Given the description of an element on the screen output the (x, y) to click on. 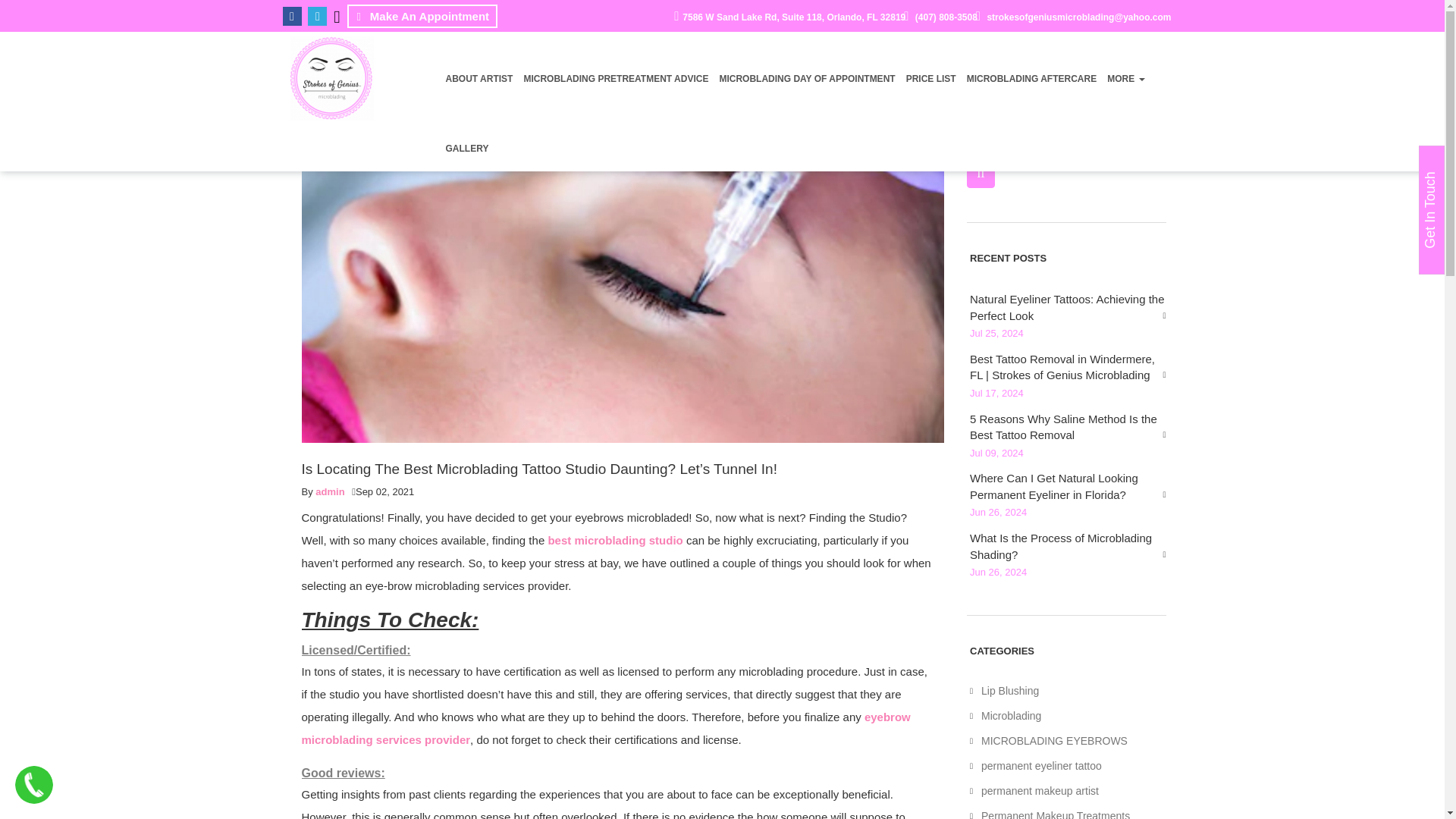
5 Reasons Why Saline Method Is the Best Tattoo Removal (1067, 427)
Posts by admin (329, 491)
MICROBLADING PRETREATMENT ADVICE (614, 66)
What Is the Process of Microblading Shading? (1067, 546)
admin (329, 491)
best microblading studio (614, 540)
7586 W Sand Lake Rd, Suite 118, Orlando, FL 32819 (789, 17)
Microblading (1067, 716)
eyebrow microblading services provider (606, 728)
